Given the description of an element on the screen output the (x, y) to click on. 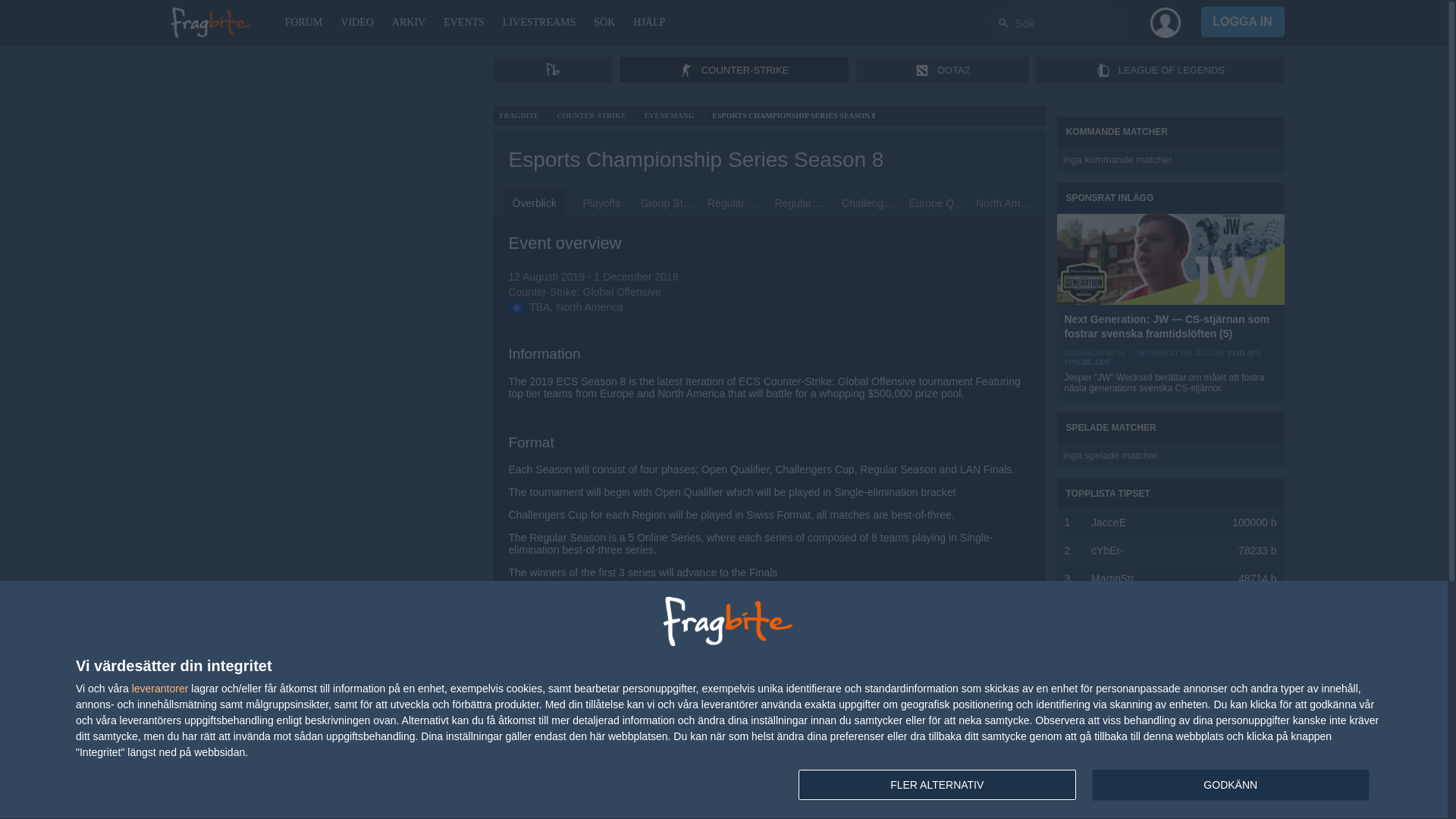
ARKIV (407, 22)
LOGGA IN (1242, 21)
VIDEO (356, 22)
LIVESTREAMS (539, 22)
EVENTS (463, 22)
Fragbite (210, 22)
FLER ALTERNATIV (936, 784)
FORUM (303, 22)
leverantorer (160, 688)
